Given the description of an element on the screen output the (x, y) to click on. 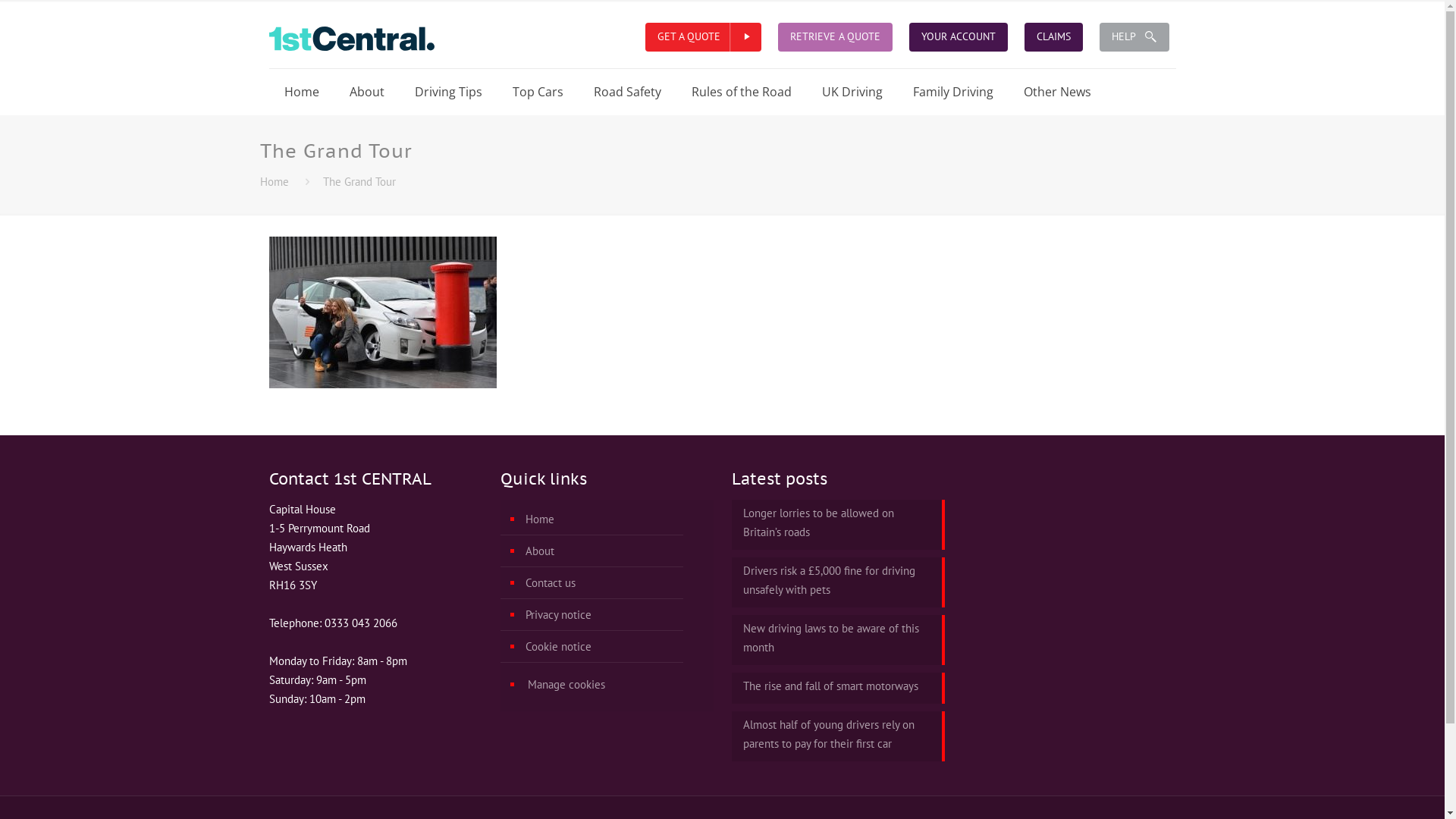
Behind the wheel with 1st CENTRAL Element type: hover (350, 34)
New driving laws to be aware of this month Element type: text (838, 638)
About Element type: text (614, 551)
The rise and fall of smart motorways Element type: text (838, 686)
Family Driving Element type: text (952, 91)
Home Element type: text (614, 519)
Manage cookies Element type: text (614, 684)
CLAIMS Element type: text (1052, 36)
Privacy notice Element type: text (614, 614)
RETRIEVE A QUOTE Element type: text (835, 36)
YOUR ACCOUNT Element type: text (957, 36)
Other News Element type: text (1057, 91)
GET A QUOTE Element type: text (687, 36)
Home Element type: text (273, 181)
Contact us Element type: text (614, 583)
Road Safety Element type: text (626, 91)
Cookie notice Element type: text (614, 646)
Rules of the Road Element type: text (741, 91)
Top Cars Element type: text (537, 91)
HELP Element type: text (1134, 36)
UK Driving Element type: text (851, 91)
Home Element type: text (300, 91)
About Element type: text (365, 91)
Driving Tips Element type: text (447, 91)
